Given the description of an element on the screen output the (x, y) to click on. 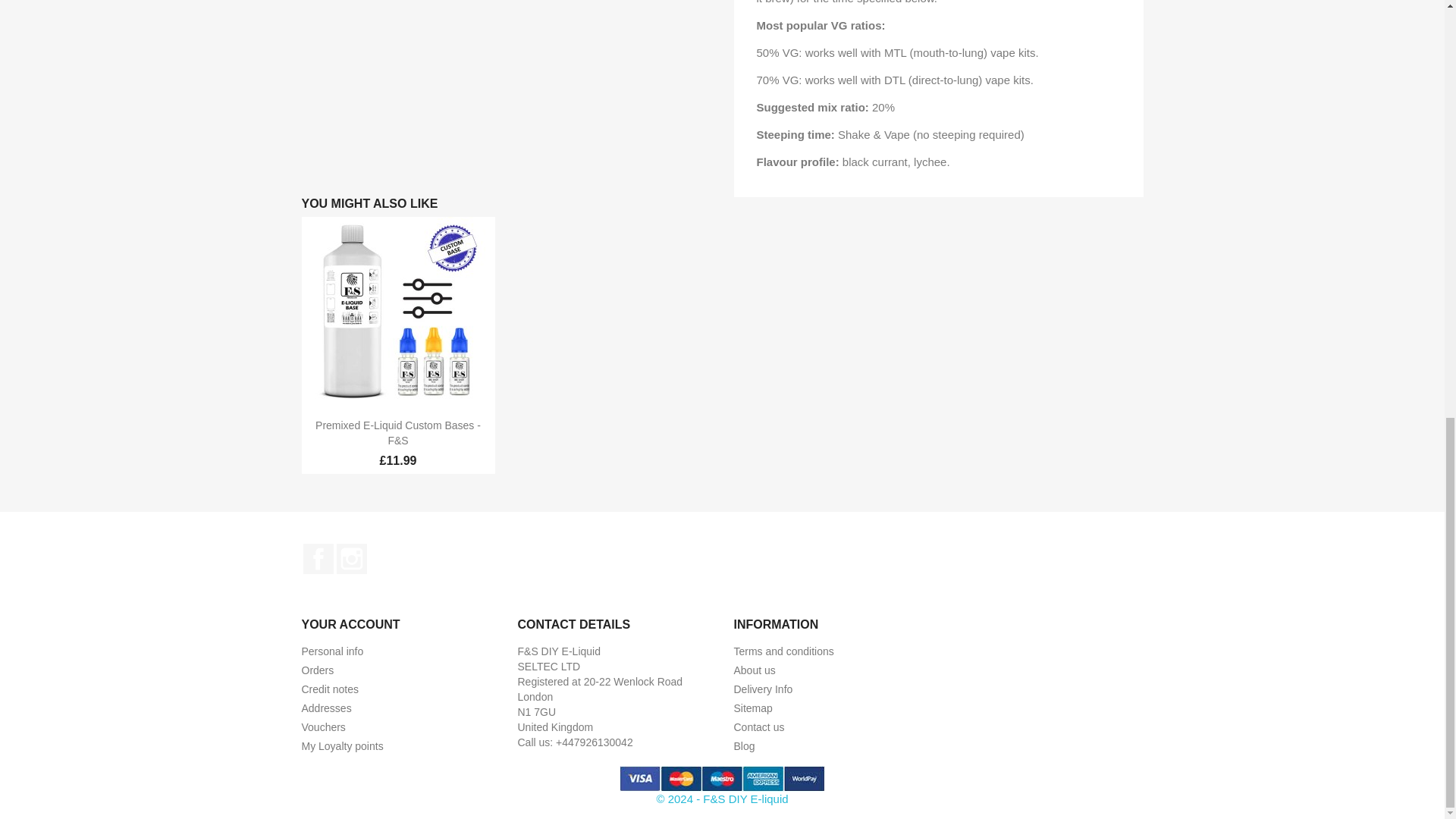
Personal info (332, 651)
Lost ? Find what your are looking for (753, 707)
Credit notes (329, 689)
Use our form to contact us (758, 727)
Orders (317, 670)
My Loyalty points (342, 746)
Our terms and conditions of use (783, 651)
Vouchers (323, 727)
Addresses (326, 707)
